Given the description of an element on the screen output the (x, y) to click on. 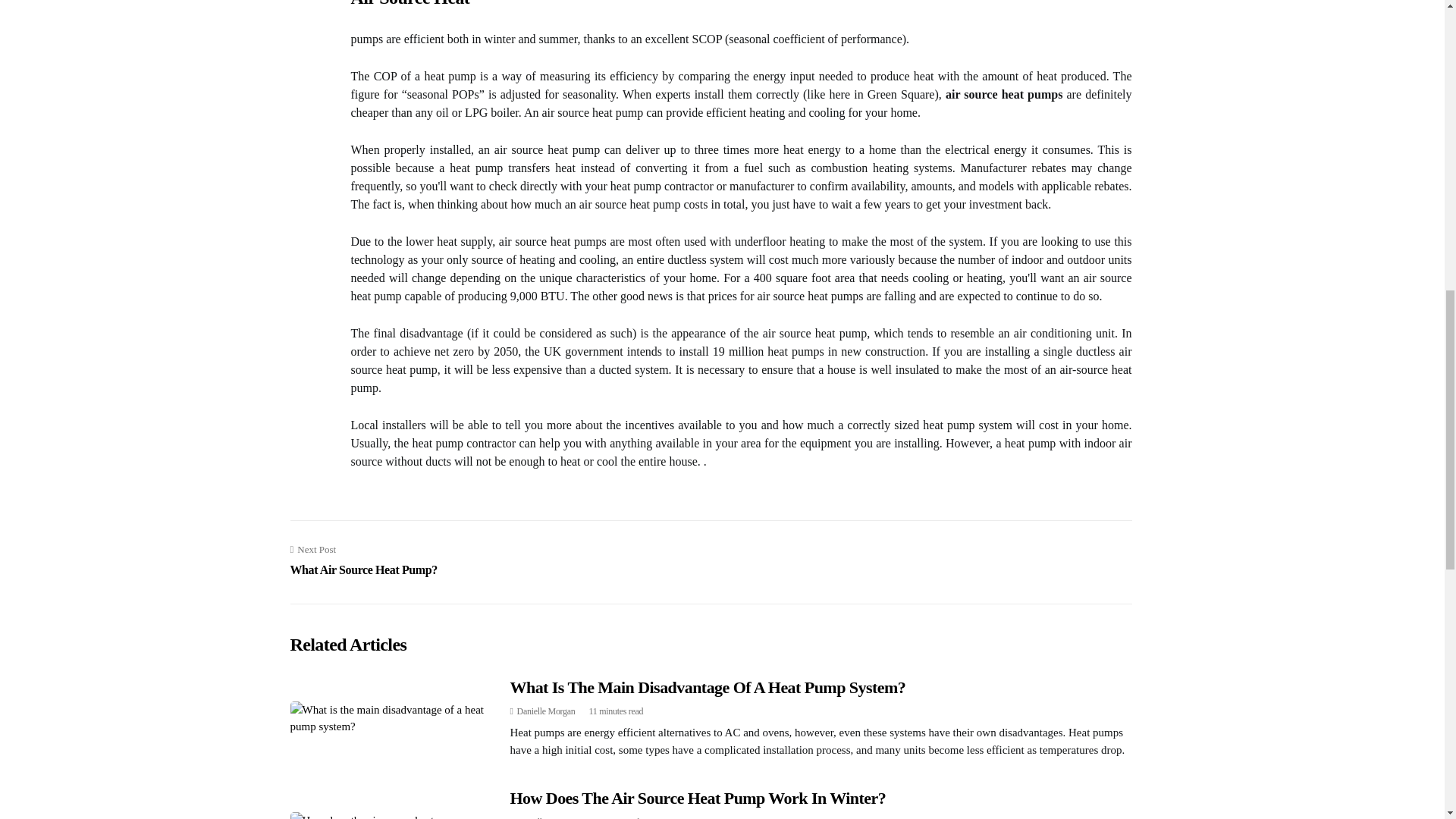
How Does The Air Source Heat Pump Work In Winter? (697, 797)
Danielle Morgan (545, 817)
Danielle Morgan (545, 710)
What Is The Main Disadvantage Of A Heat Pump System? (707, 687)
Posts by Danielle Morgan (545, 817)
Posts by Danielle Morgan (545, 710)
